Given the description of an element on the screen output the (x, y) to click on. 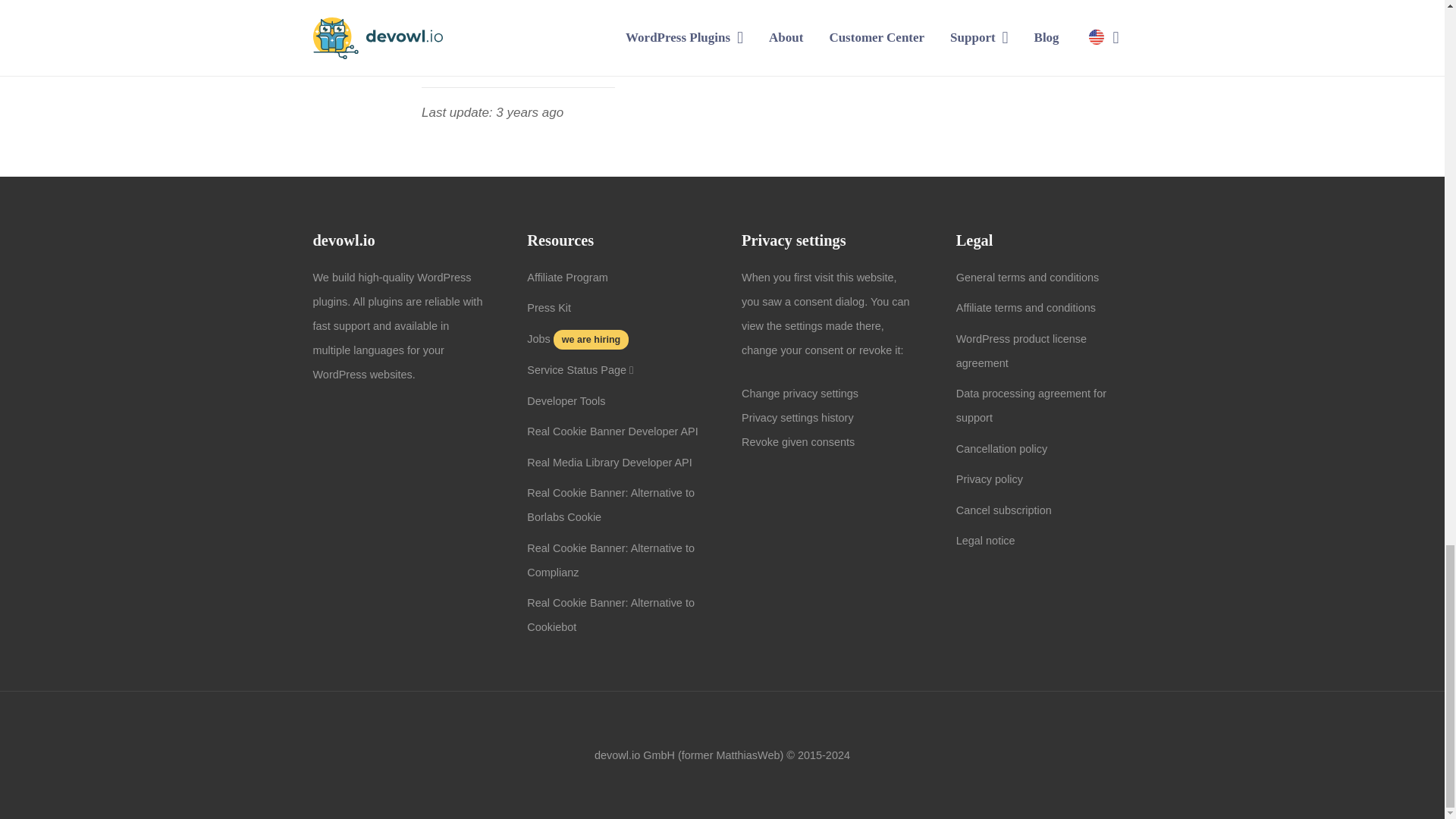
Affiliate terms and conditions (1026, 307)
we are hiring (589, 338)
Real Cookie Banner: Alternative to Complianz (610, 560)
Real Cookie Banner: Alternative to Cookiebot (610, 615)
Jobs (538, 338)
Revoke given consents (797, 441)
Developer Tools (566, 400)
Real Cookie Banner: Alternative to Borlabs Cookie (610, 504)
Real Cookie Banner Developer API (612, 431)
General terms and conditions (1027, 277)
Change privacy settings (800, 393)
Press Kit (548, 307)
Privacy settings history (797, 417)
Affiliate Program (567, 277)
Real Media Library Developer API (609, 462)
